Given the description of an element on the screen output the (x, y) to click on. 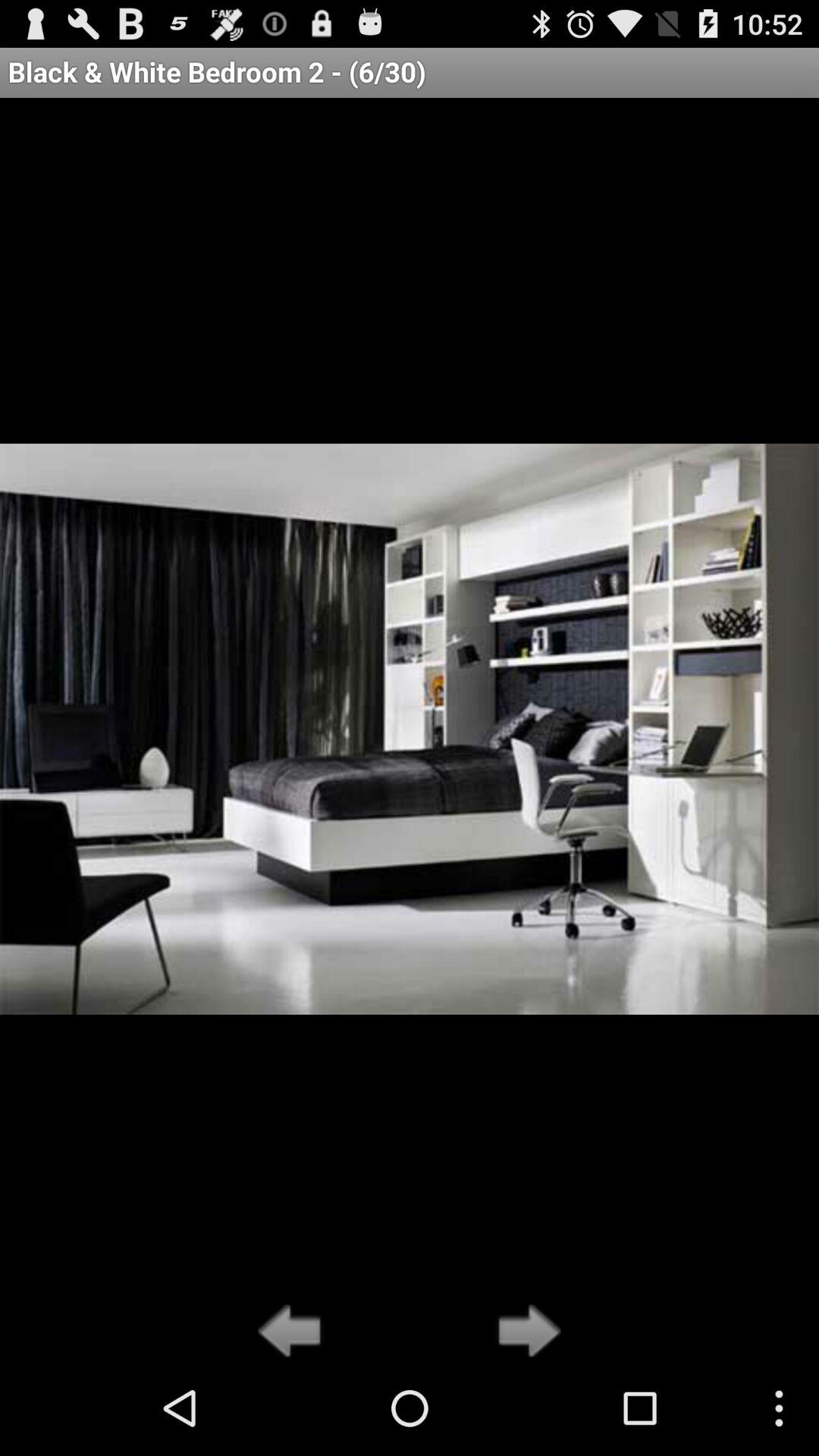
previous page (293, 1332)
